Given the description of an element on the screen output the (x, y) to click on. 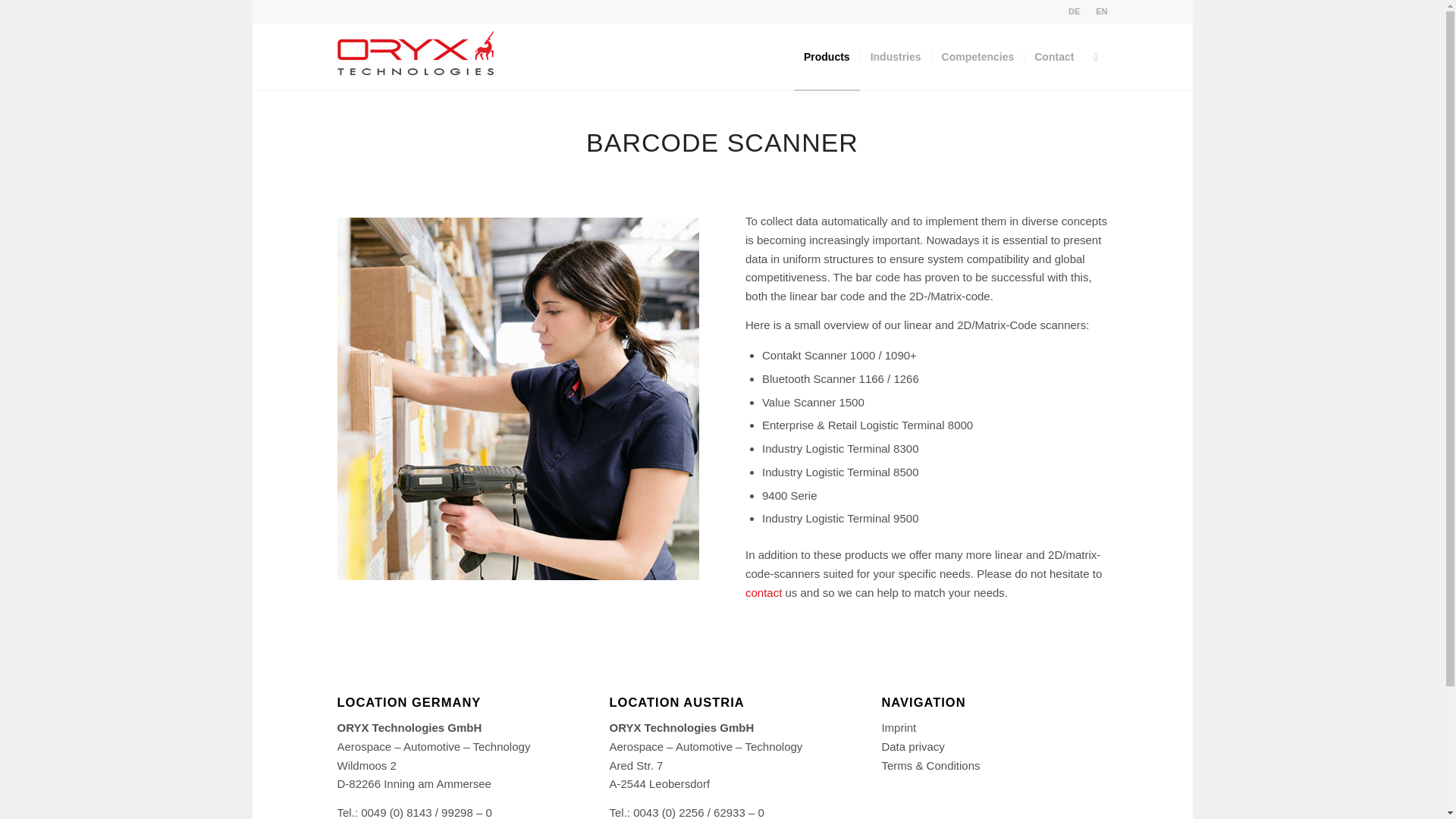
Imprint (897, 727)
contact (763, 592)
Industries (895, 56)
logistik (517, 398)
Products (826, 56)
